Given the description of an element on the screen output the (x, y) to click on. 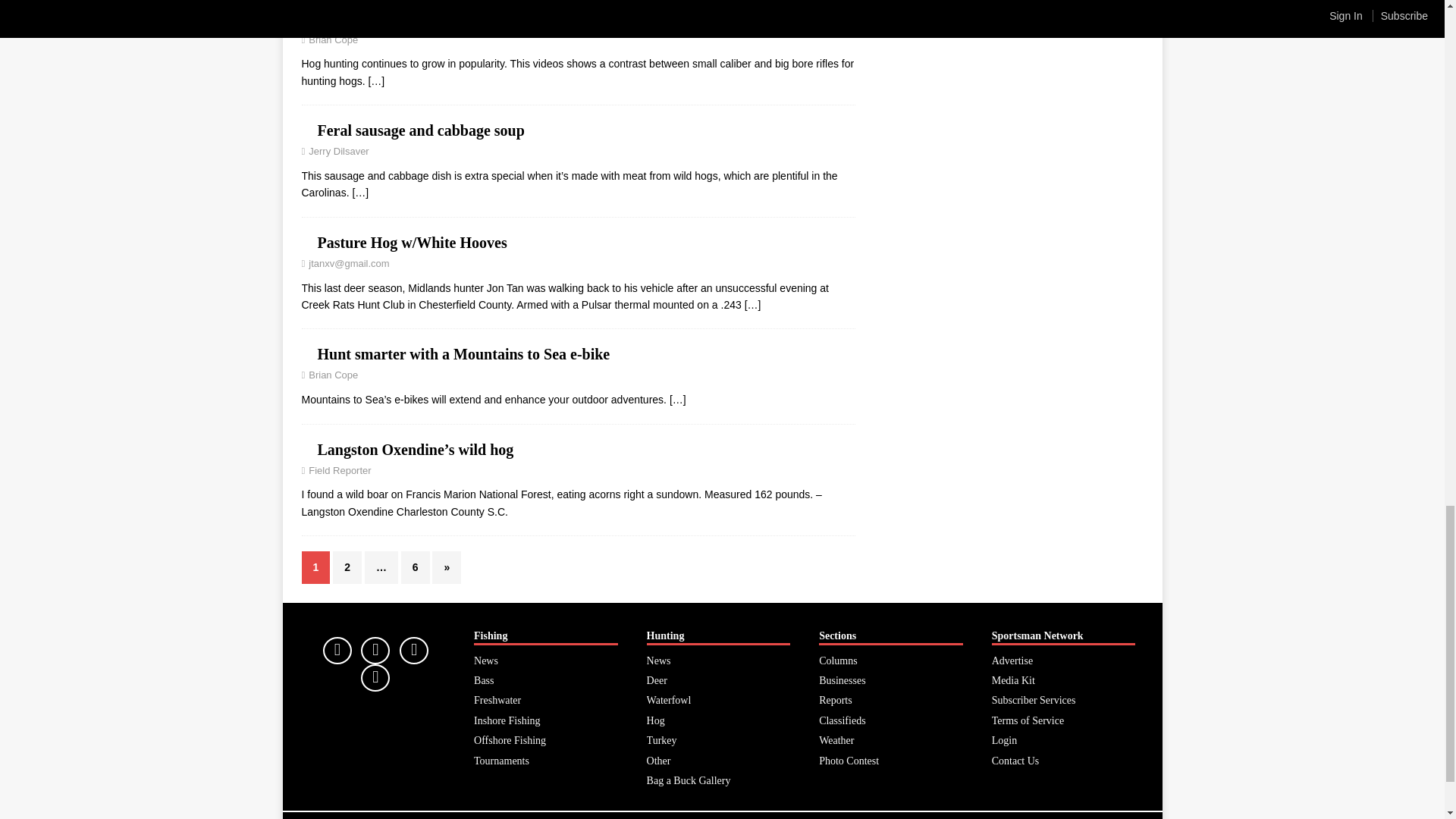
Feral sausage and cabbage soup (360, 192)
Small caliber vs. big bore rifles for hog hunting (469, 18)
Small caliber vs. big bore rifles for hog hunting (376, 80)
Feral sausage and cabbage soup (420, 130)
